Given the description of an element on the screen output the (x, y) to click on. 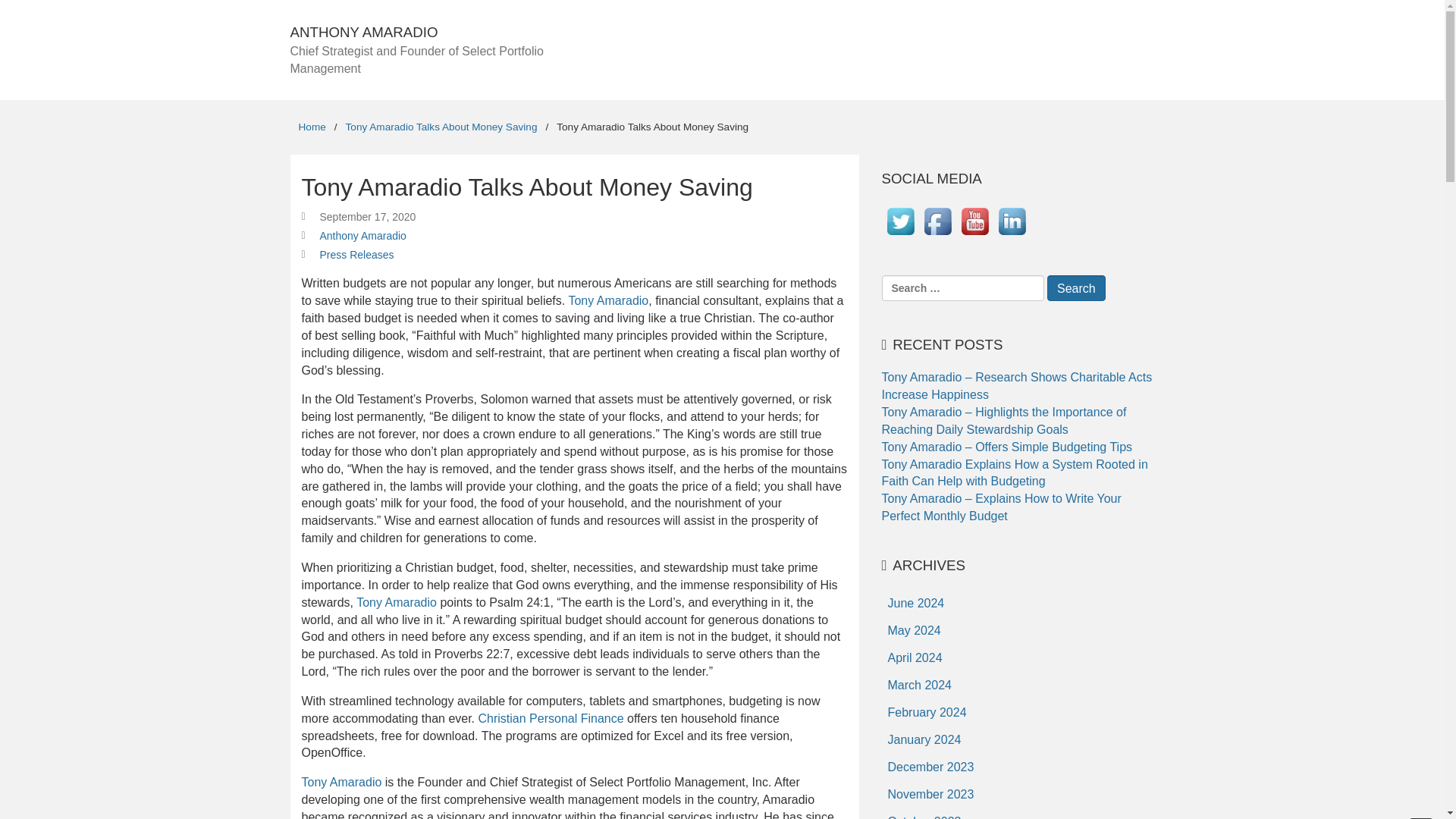
Home (311, 126)
March 2024 (919, 685)
Search for: (961, 288)
Visit Us On Youtube (973, 235)
December 2023 (929, 767)
Tony Amaradio Talks About Money Saving (441, 126)
Tony Amaradio (607, 300)
Search (1075, 288)
Home (311, 126)
Search (1075, 288)
Visit Us On Twitter (899, 235)
Press Releases (357, 254)
June 2024 (915, 603)
February 2024 (926, 712)
